Given the description of an element on the screen output the (x, y) to click on. 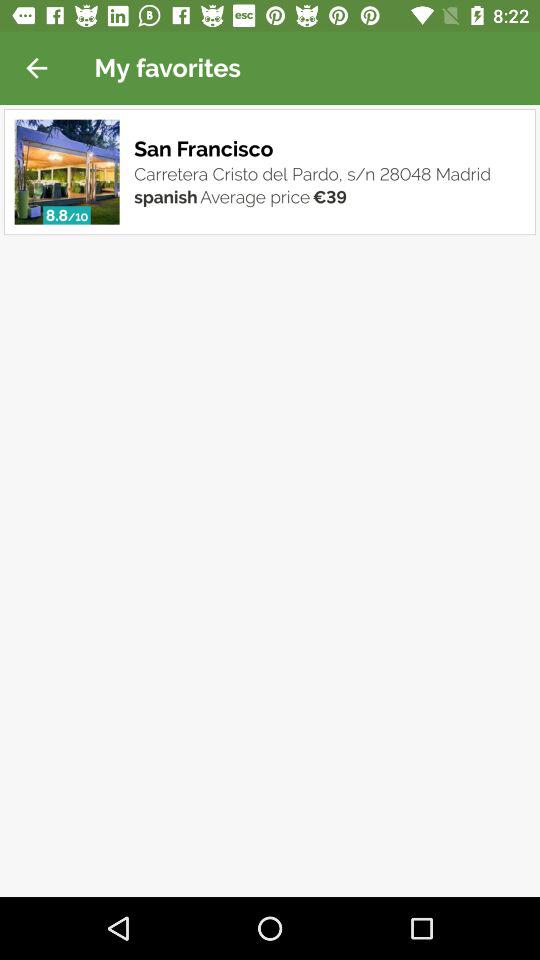
select item below the my favorites item (206, 148)
